Given the description of an element on the screen output the (x, y) to click on. 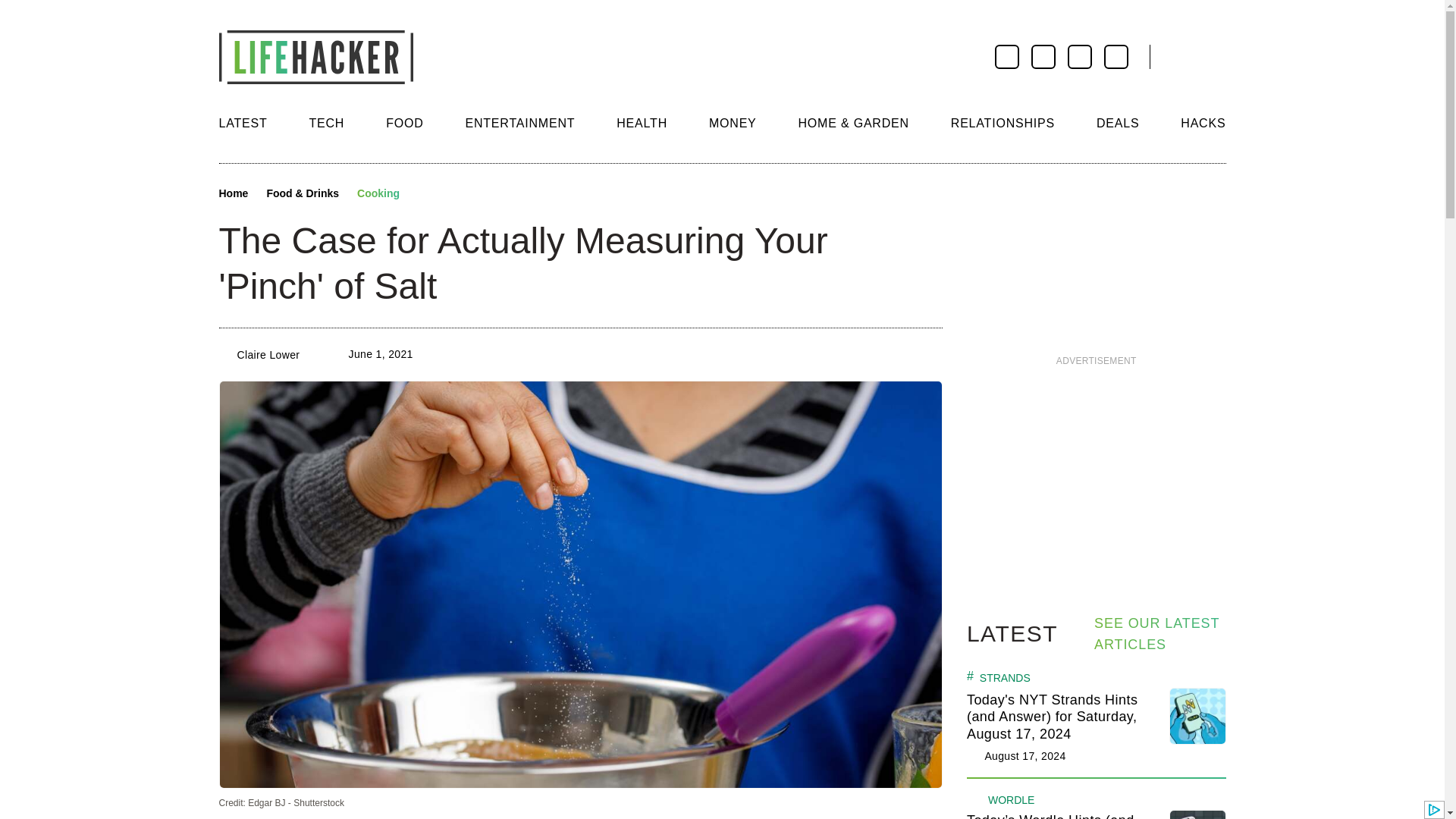
HEALTH (640, 123)
RELATIONSHIPS (1002, 123)
ENTERTAINMENT (519, 123)
Cooking (377, 193)
TECH (325, 123)
FOOD (404, 123)
MONEY (733, 123)
LATEST (242, 123)
HACKS (1202, 123)
Social Share (425, 193)
